Given the description of an element on the screen output the (x, y) to click on. 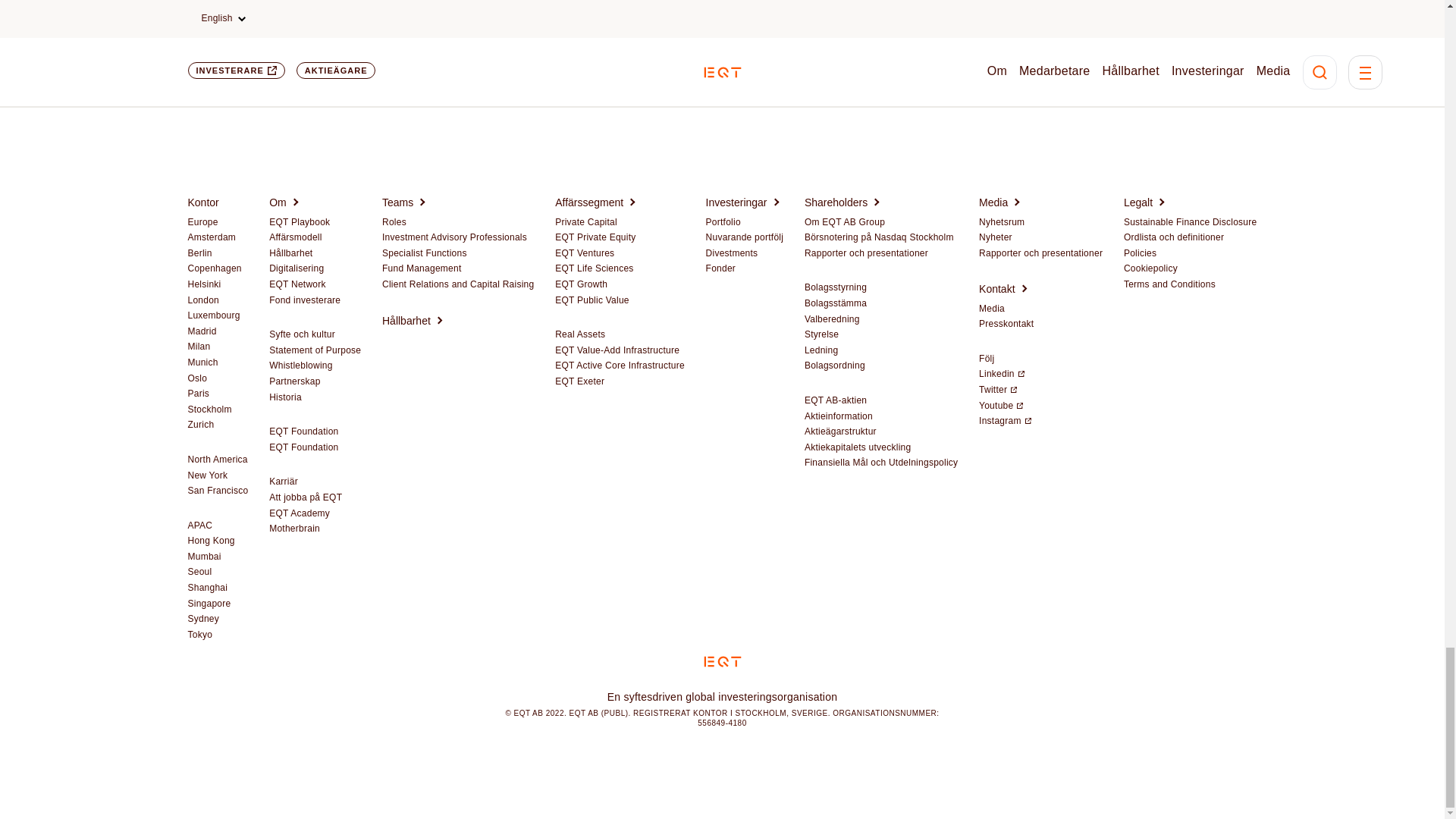
Helsinki (204, 285)
London (203, 300)
EQT logo (722, 661)
Amsterdam (211, 237)
Copenhagen (214, 268)
Berlin (199, 254)
